Given the description of an element on the screen output the (x, y) to click on. 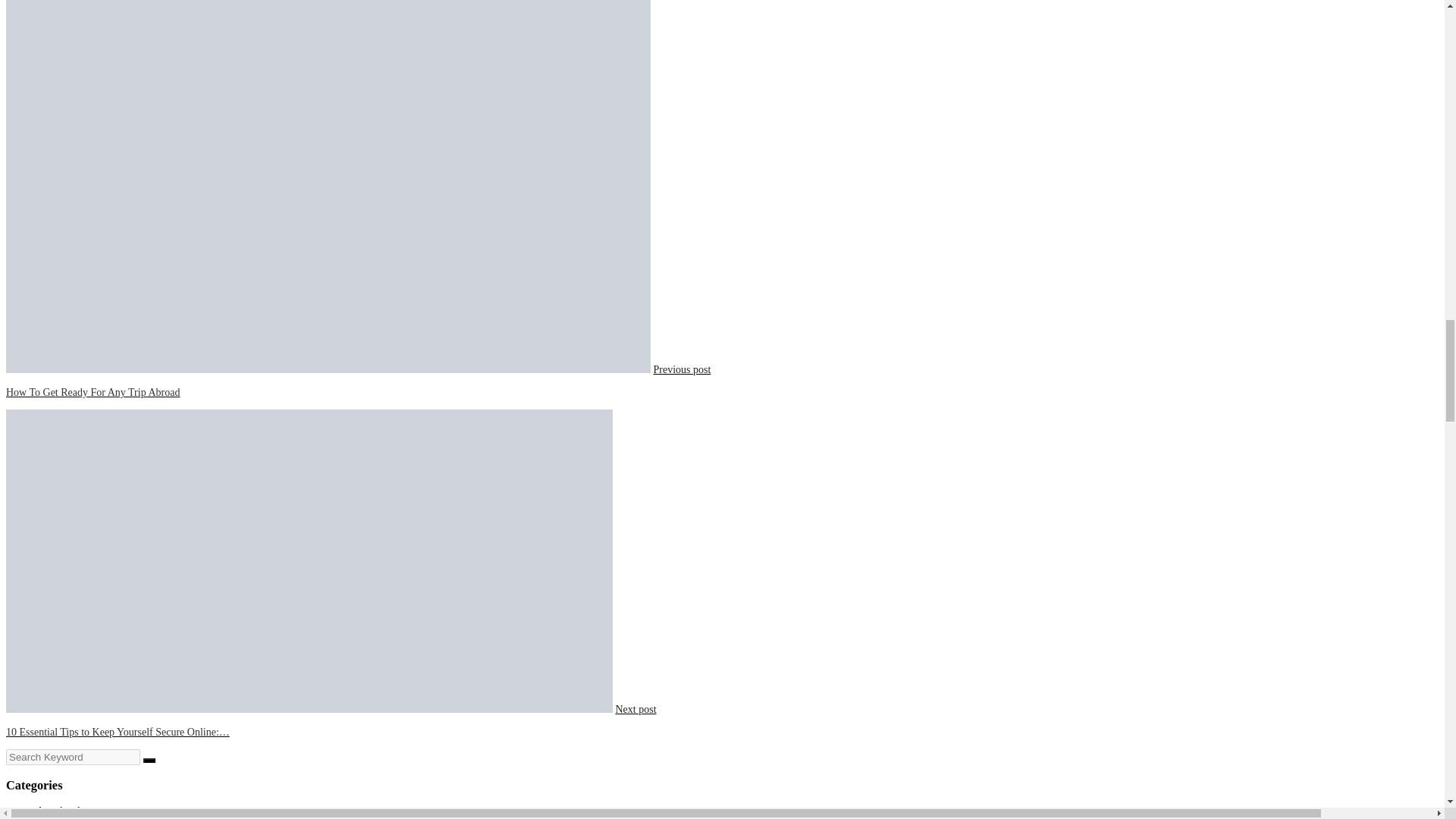
App development (74, 810)
